Given the description of an element on the screen output the (x, y) to click on. 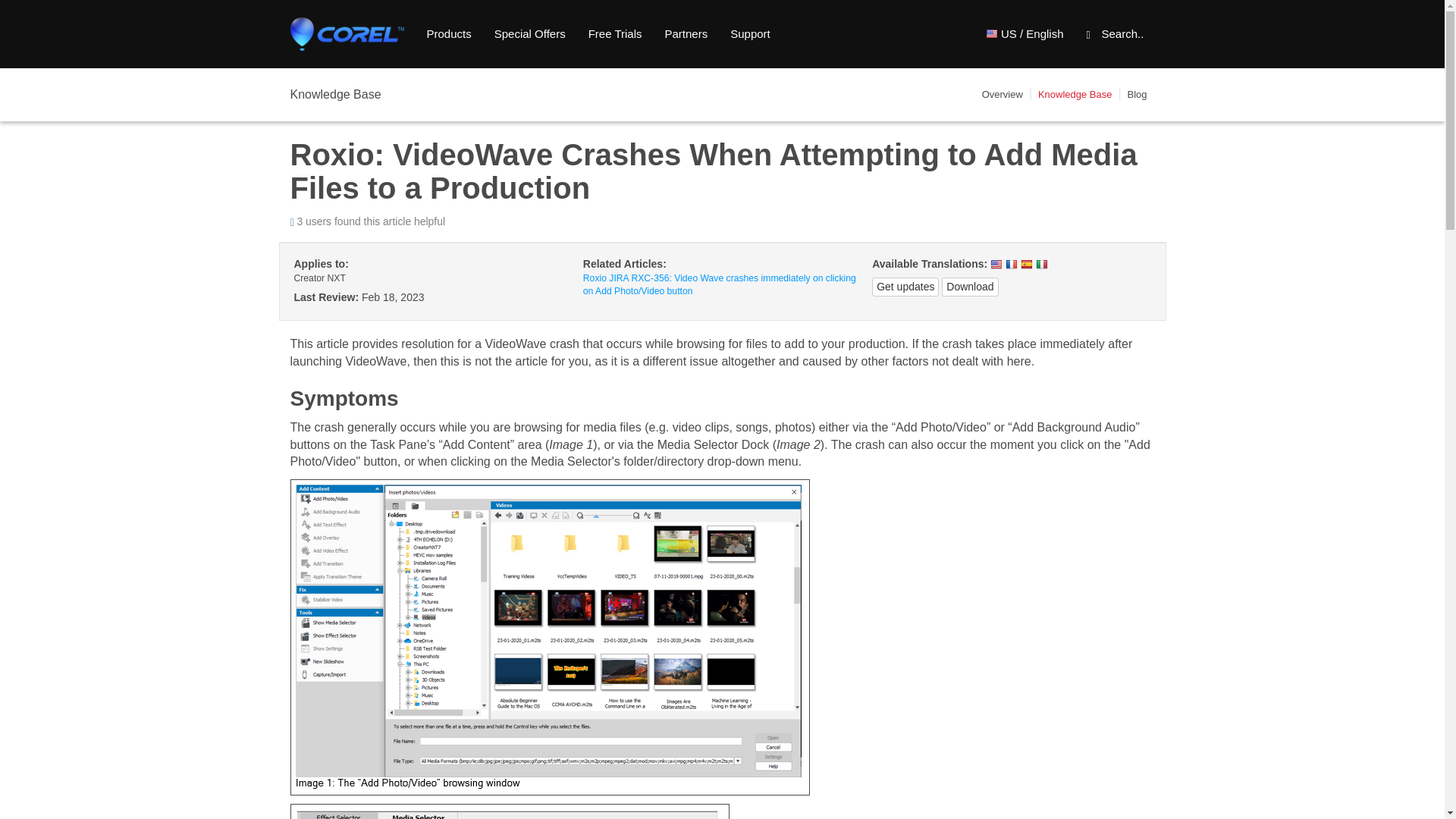
Support (750, 34)
Special Offers (529, 34)
Download (969, 286)
Save as PDF (969, 286)
Partners (686, 34)
Free Trials (614, 34)
Subscribe to article updates (905, 286)
Products (448, 34)
Overview (1002, 94)
Knowledge Base (1074, 94)
